Given the description of an element on the screen output the (x, y) to click on. 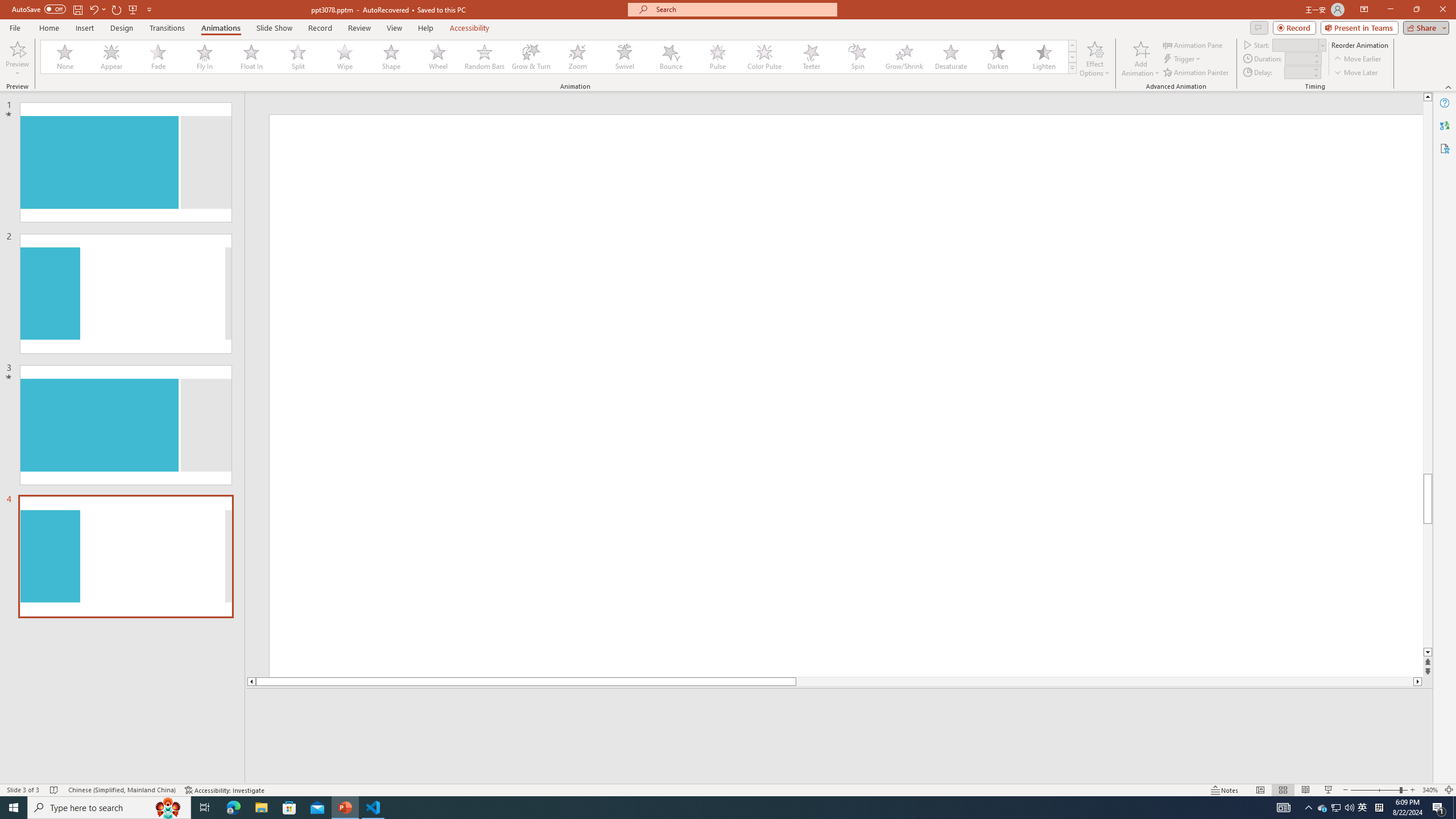
Pulse (717, 56)
Move Later (1355, 72)
Grow/Shrink (903, 56)
Bounce (670, 56)
AutomationID: AnimationGallery (558, 56)
Animation Delay (1297, 72)
